Given the description of an element on the screen output the (x, y) to click on. 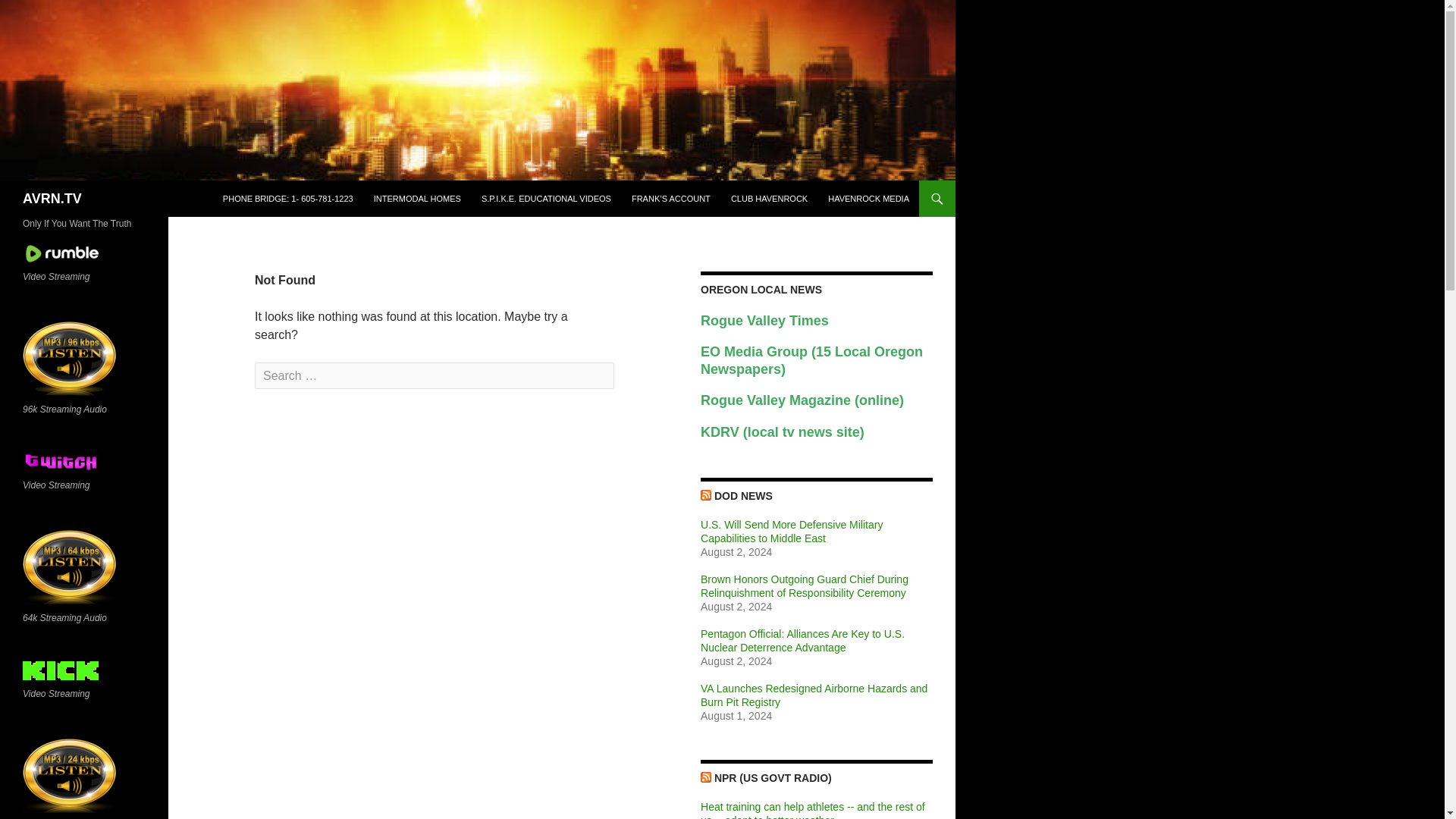
Rogue Valley Times (764, 321)
DOD NEWS (743, 495)
AVRN.TV (52, 198)
PHONE BRIDGE: 1- 605-781-1223 (288, 198)
CLUB HAVENROCK (769, 198)
S.P.I.K.E. EDUCATIONAL VIDEOS (545, 198)
Search (42, 13)
INTERMODAL HOMES (417, 198)
